Given the description of an element on the screen output the (x, y) to click on. 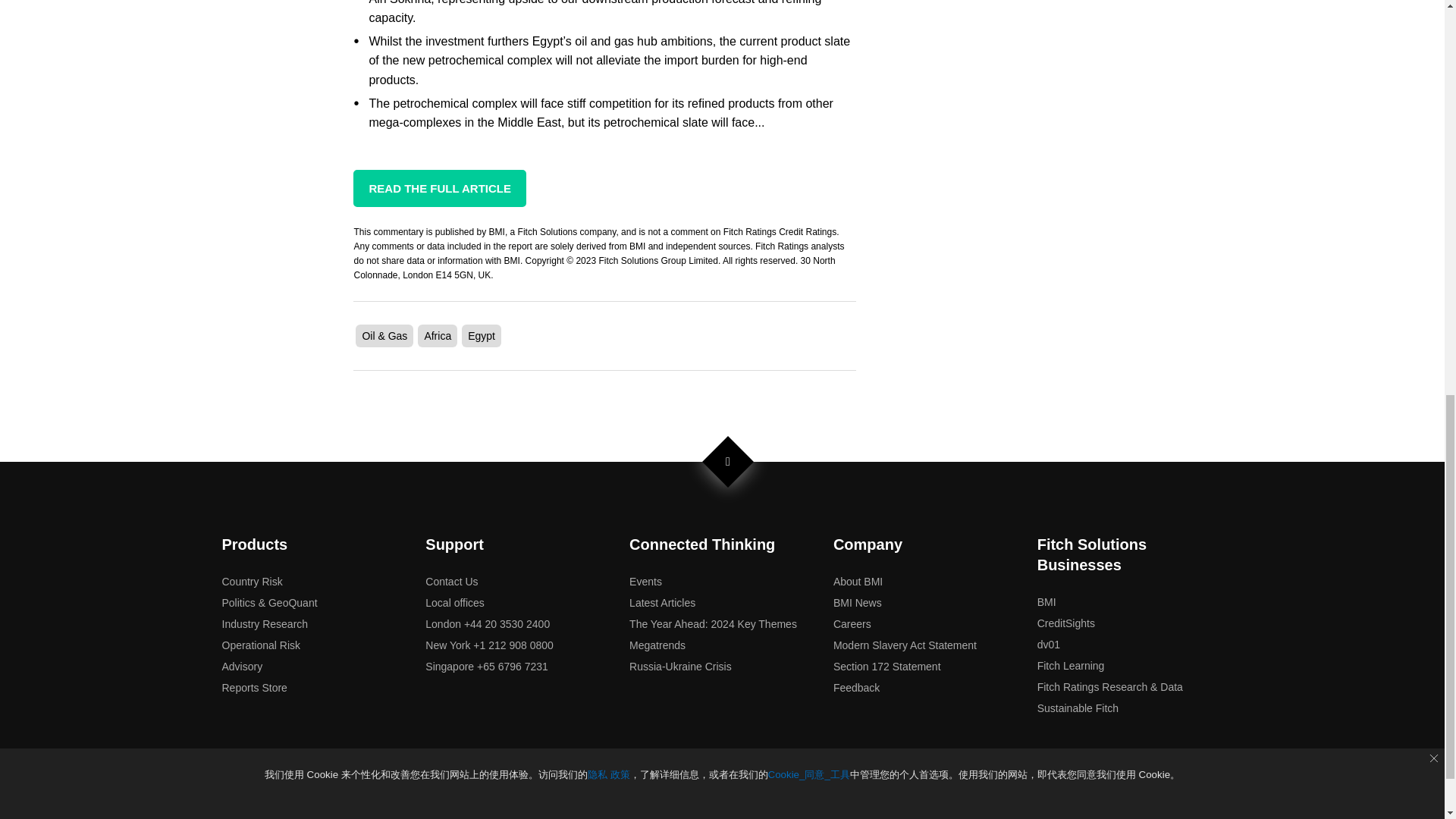
Local offices (454, 603)
Operational Risk (260, 645)
Country Risk (251, 581)
Reports Store (253, 687)
Events (645, 581)
READ THE FULL ARTICLE (439, 188)
Industry Research (264, 623)
Contact Us (451, 581)
Africa (437, 336)
Advisory (241, 666)
